Given the description of an element on the screen output the (x, y) to click on. 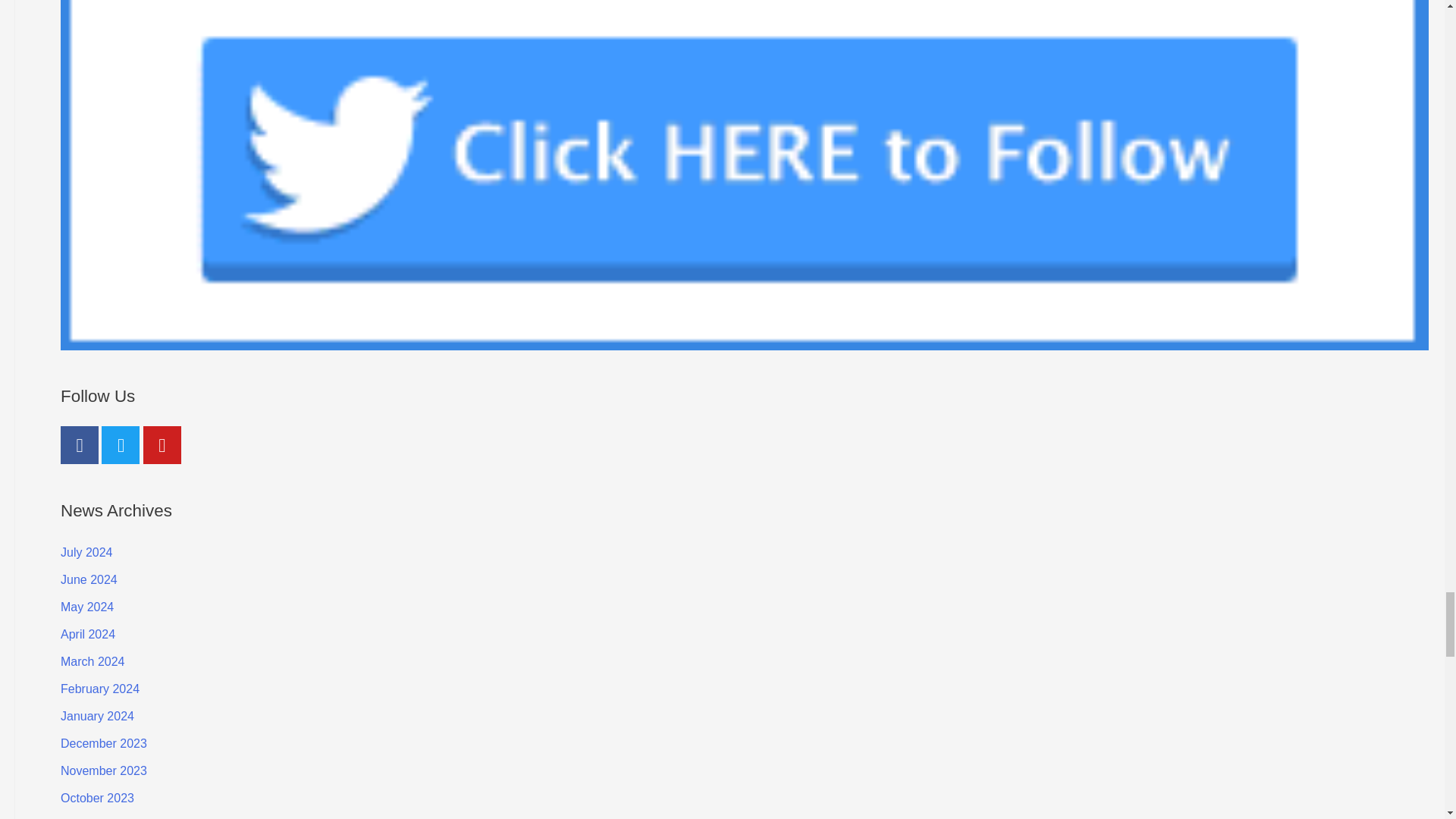
December 2023 (104, 743)
April 2024 (88, 634)
November 2023 (104, 770)
January 2024 (97, 716)
May 2024 (87, 606)
June 2024 (89, 579)
March 2024 (93, 661)
July 2024 (87, 552)
October 2023 (97, 797)
February 2024 (100, 688)
